Given the description of an element on the screen output the (x, y) to click on. 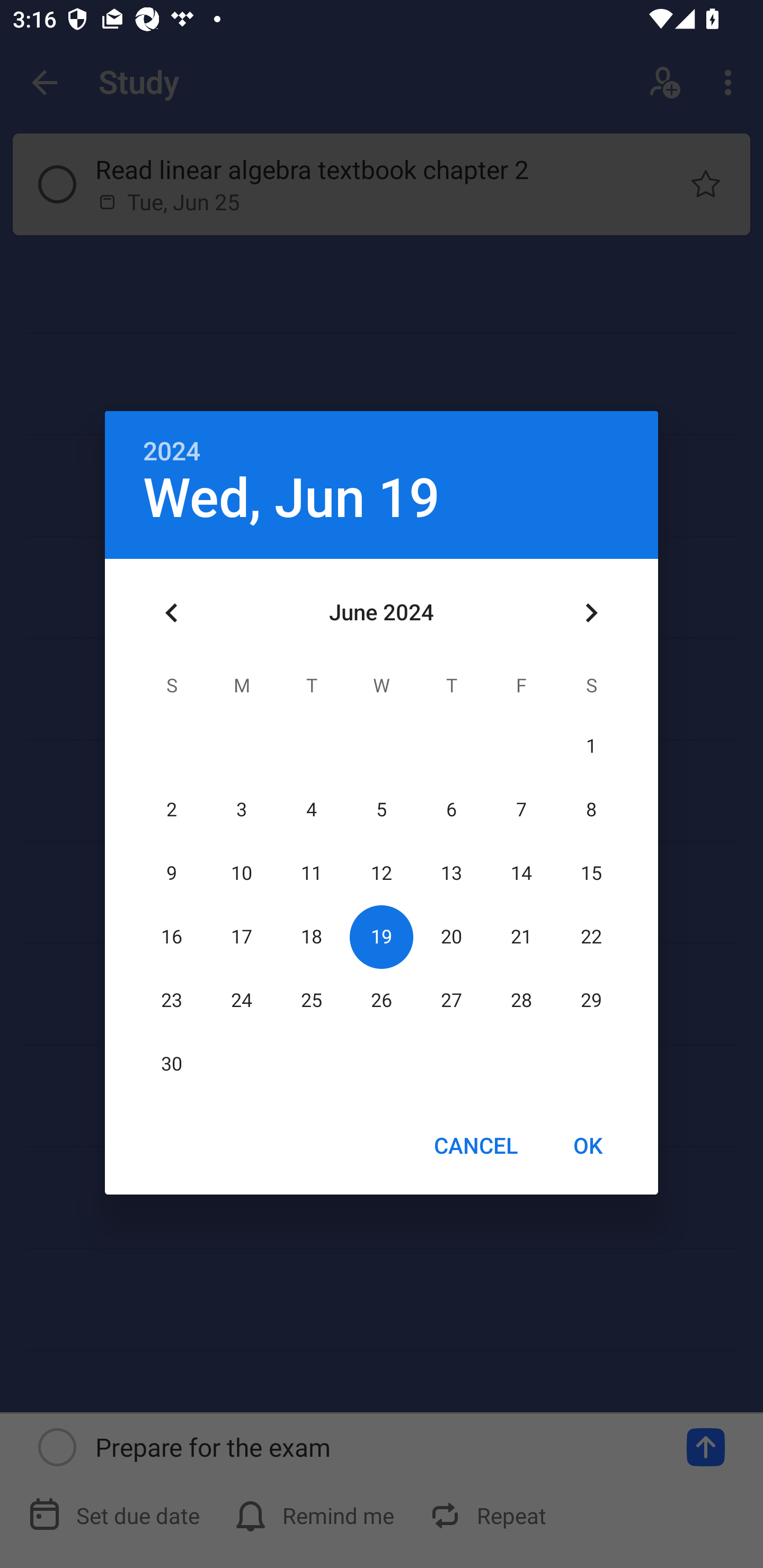
21 21 June 2024 (521, 936)
